Given the description of an element on the screen output the (x, y) to click on. 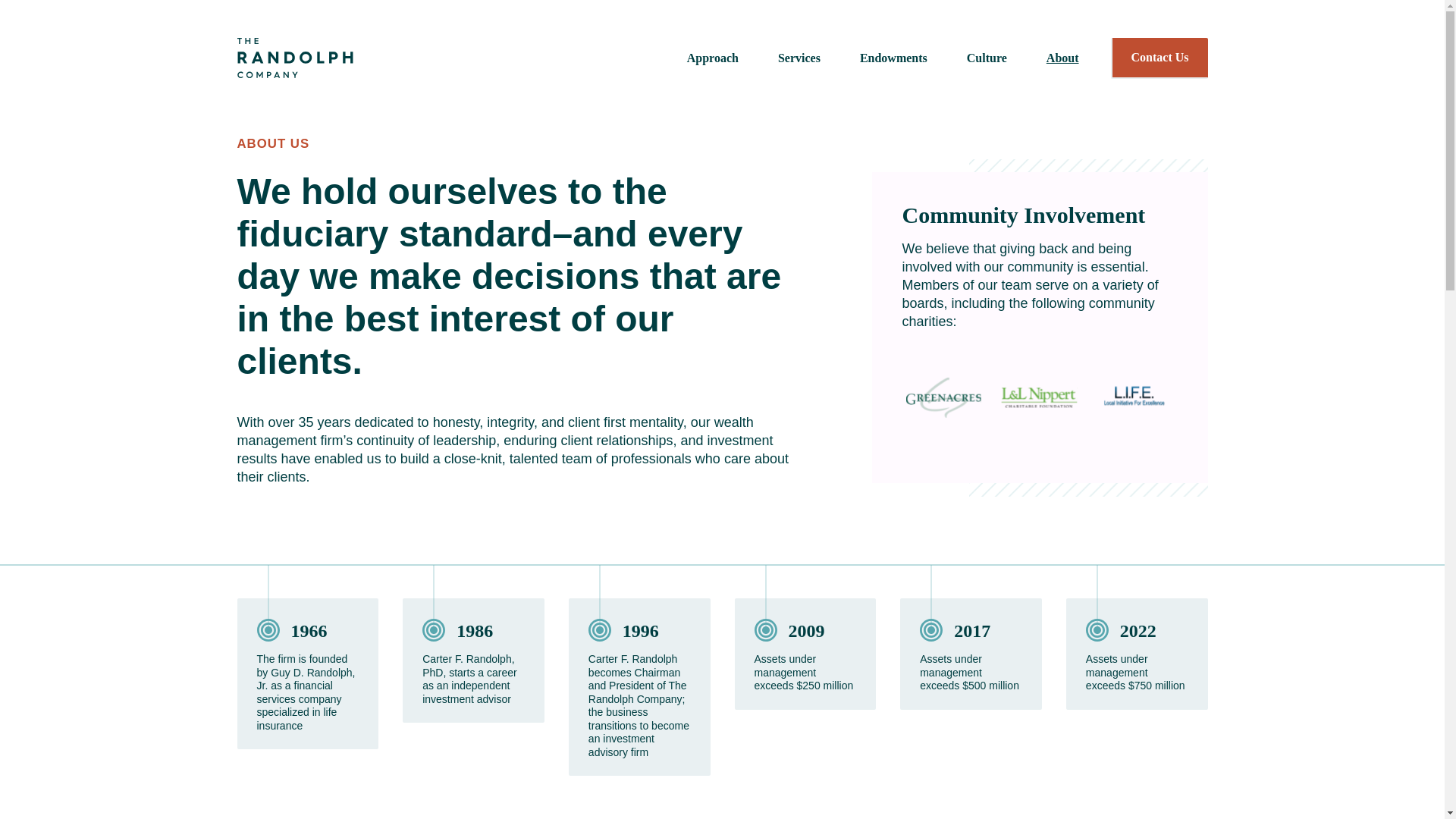
Endowments (892, 58)
timeline-indicator (433, 603)
Contact Us (1159, 57)
About (1062, 58)
timeline-indicator (765, 603)
Culture (986, 58)
timeline-indicator (599, 603)
About 8 (1134, 397)
timeline-indicator (267, 603)
accent-lines-bg-about-01 (1088, 327)
About 6 (943, 397)
Approach (712, 58)
About 7 (1039, 397)
The Randolph Company Logo White (293, 57)
Services (799, 58)
